Given the description of an element on the screen output the (x, y) to click on. 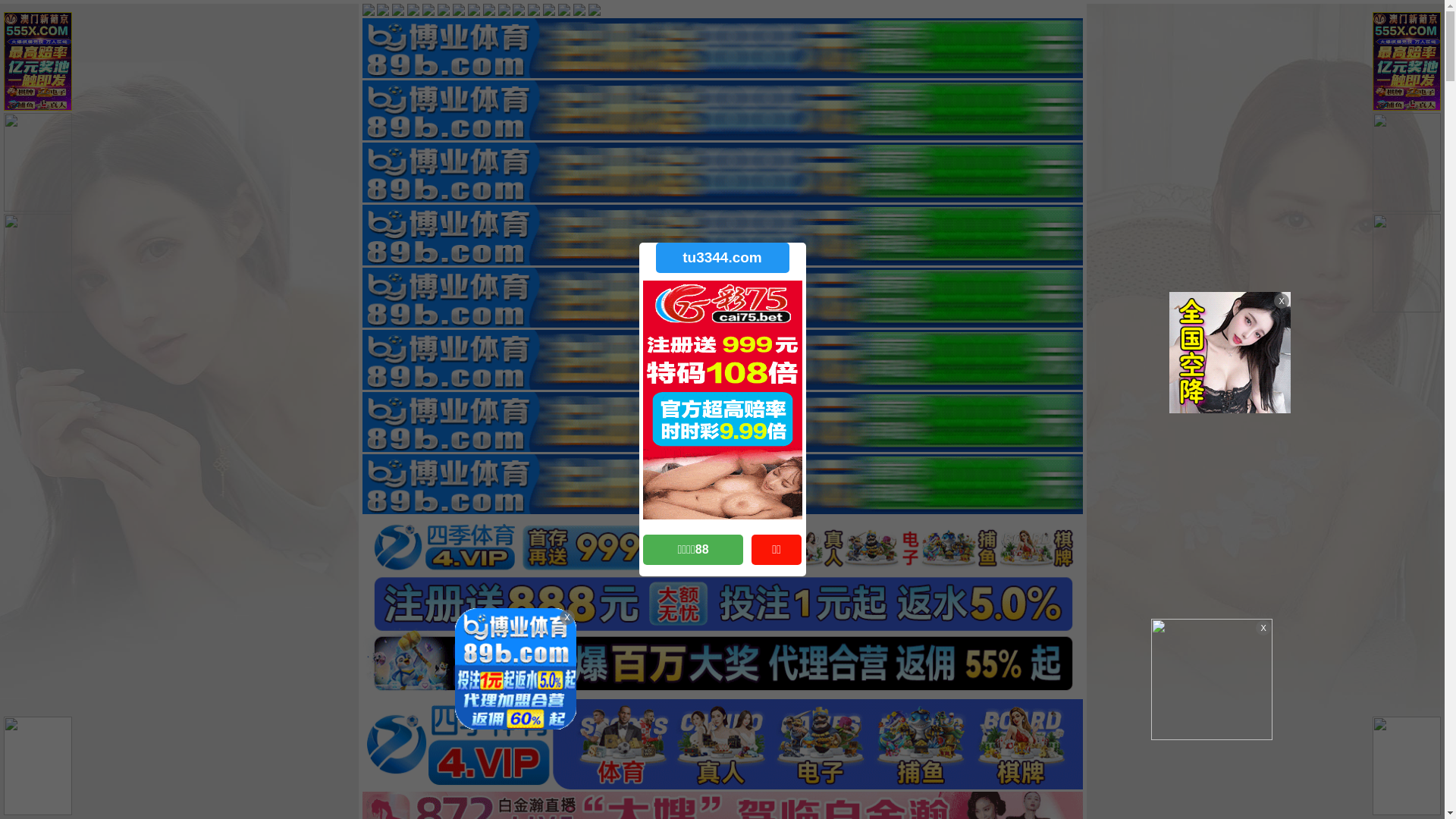
tu3344.com Element type: text (721, 257)
